Given the description of an element on the screen output the (x, y) to click on. 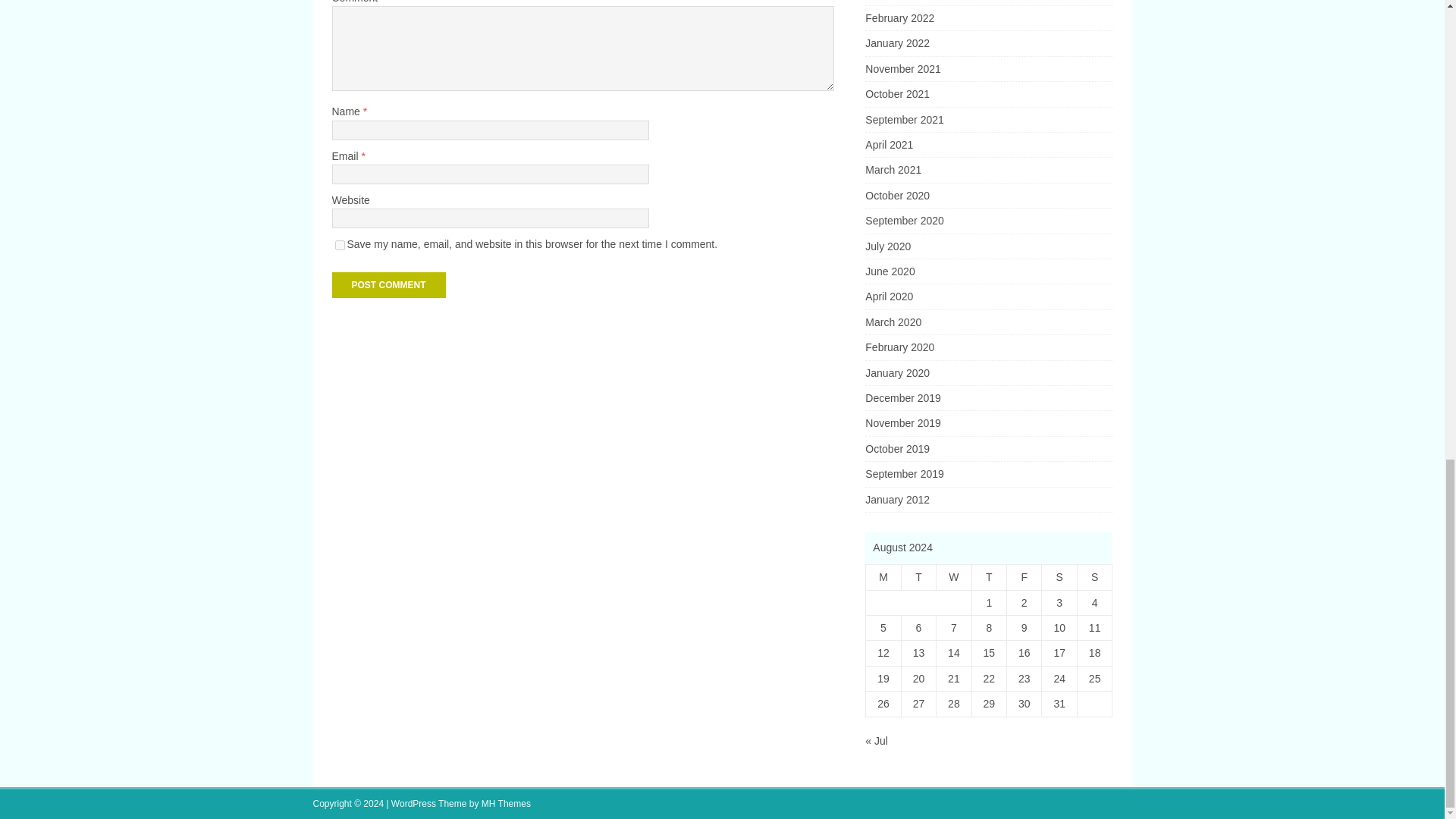
Tuesday (918, 577)
Thursday (988, 577)
Post Comment (388, 284)
Monday (883, 577)
Wednesday (953, 577)
Post Comment (388, 284)
Sunday (1094, 577)
yes (339, 245)
Friday (1024, 577)
Saturday (1059, 577)
